Given the description of an element on the screen output the (x, y) to click on. 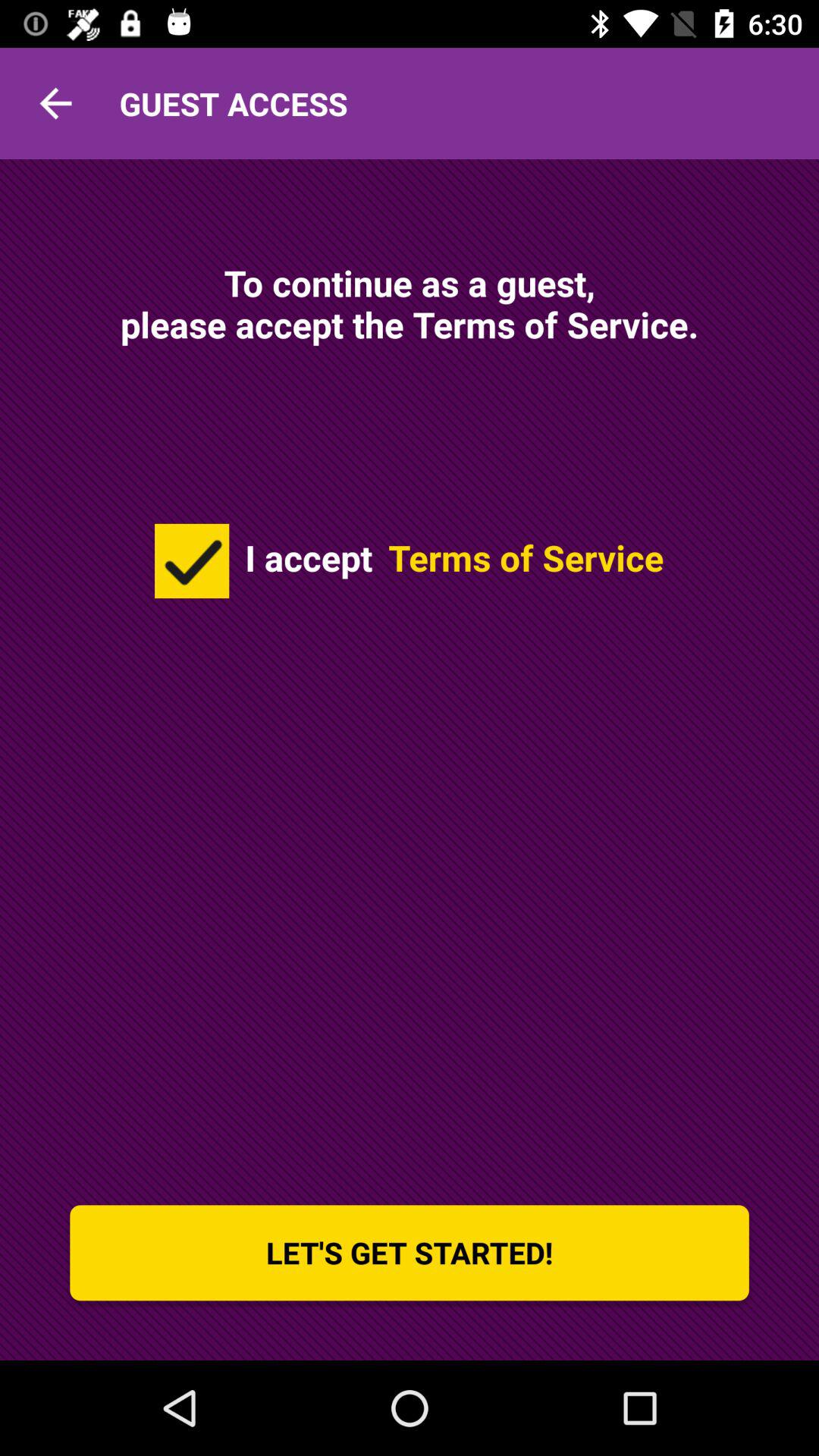
click the icon to the left of i accept (191, 560)
